Given the description of an element on the screen output the (x, y) to click on. 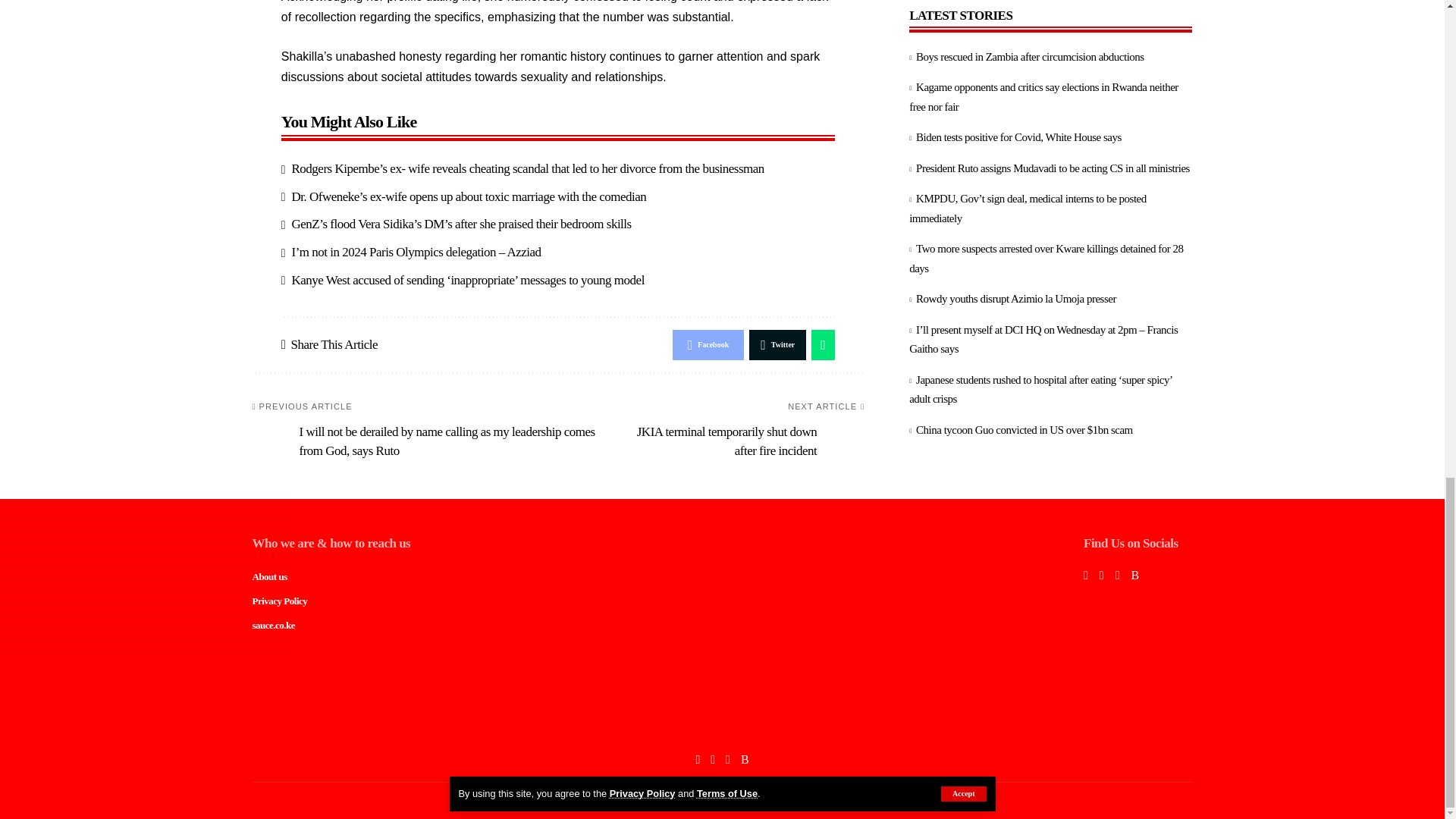
sauce.co.ke (721, 722)
